Given the description of an element on the screen output the (x, y) to click on. 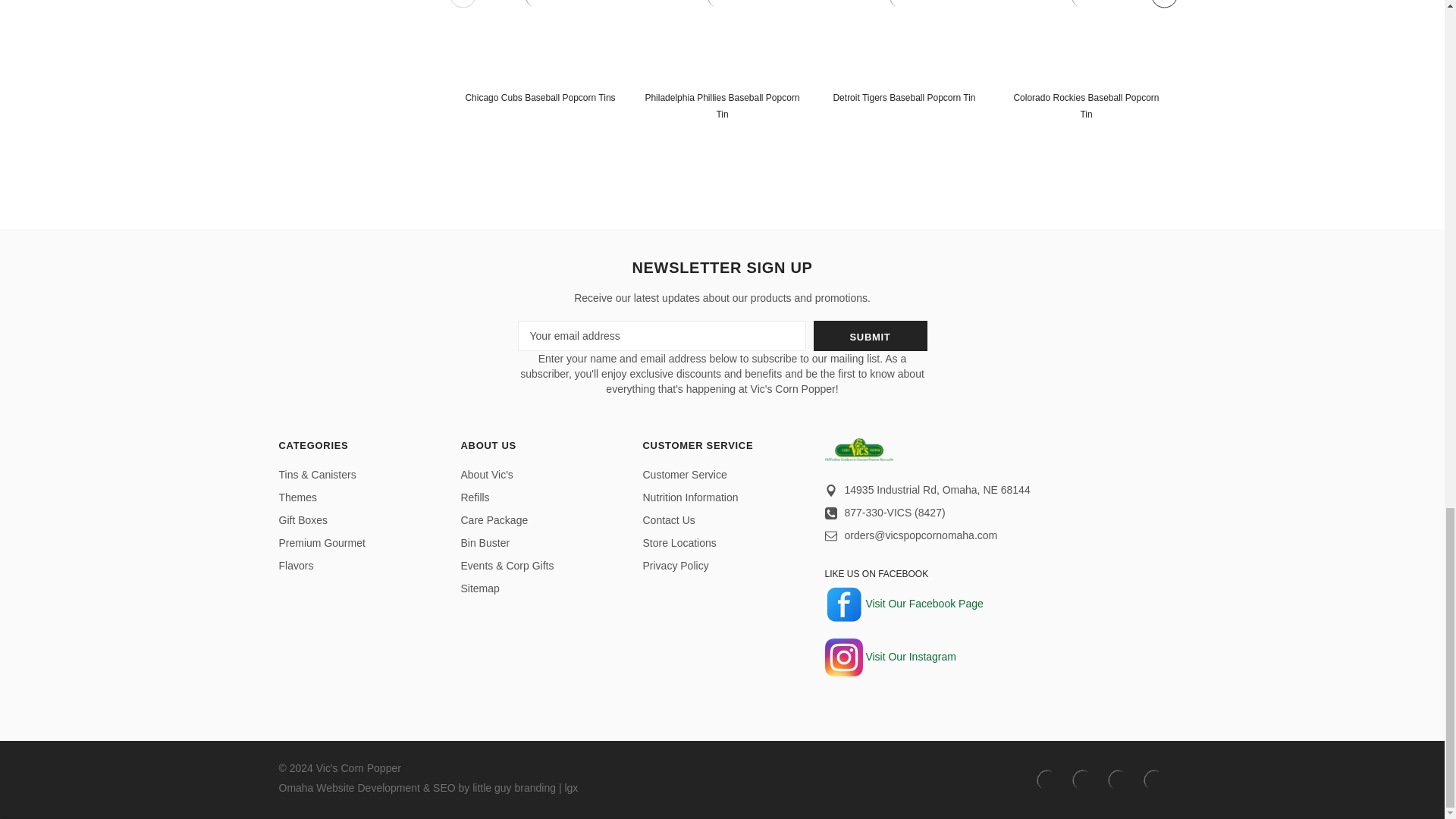
Submit (869, 336)
